Given the description of an element on the screen output the (x, y) to click on. 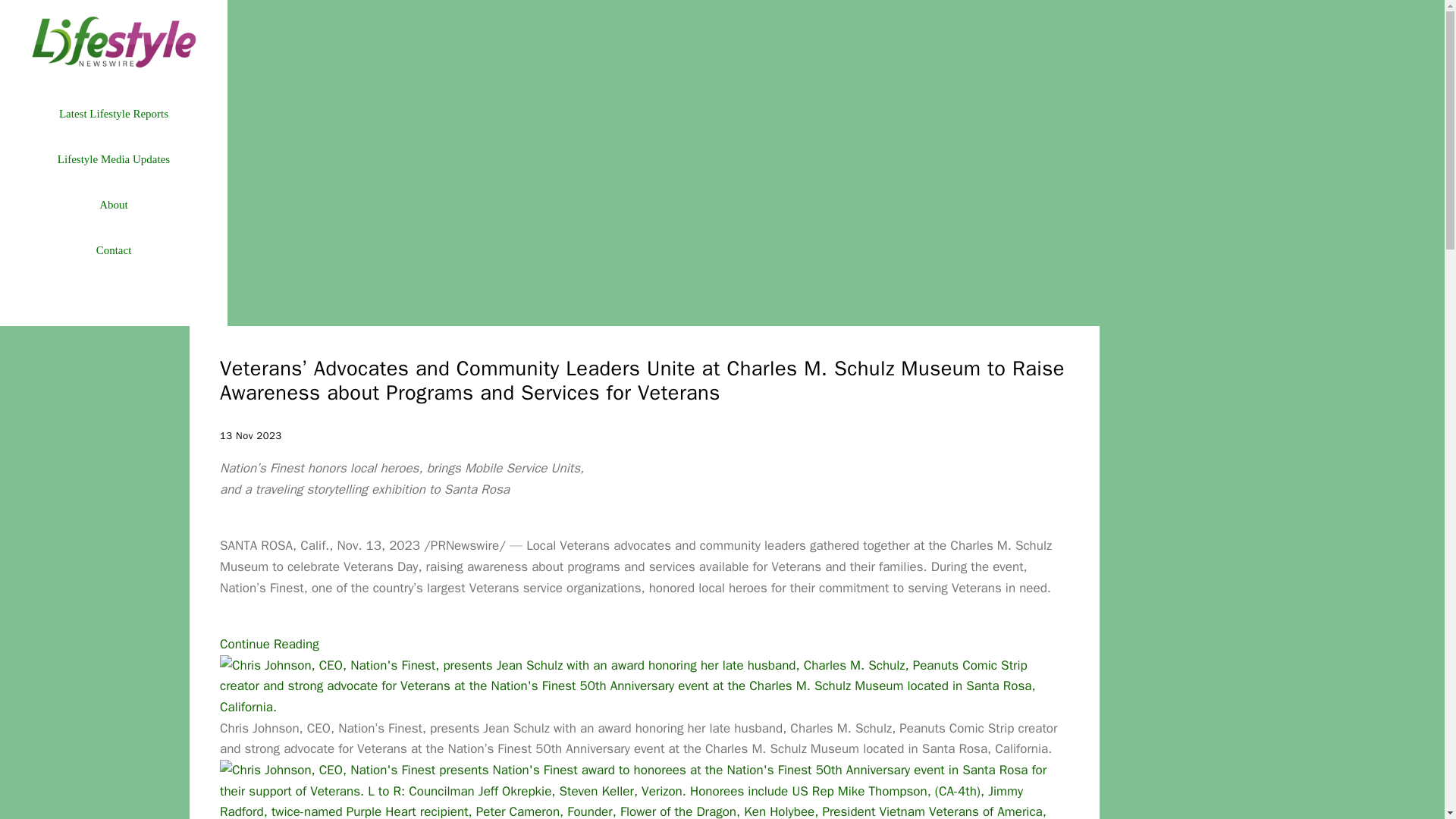
Continue Reading (268, 643)
Continue Reading (268, 643)
Latest Lifestyle Reports (113, 113)
Contact (113, 249)
About (113, 204)
Lifestyle Media Updates (113, 158)
